Given the description of an element on the screen output the (x, y) to click on. 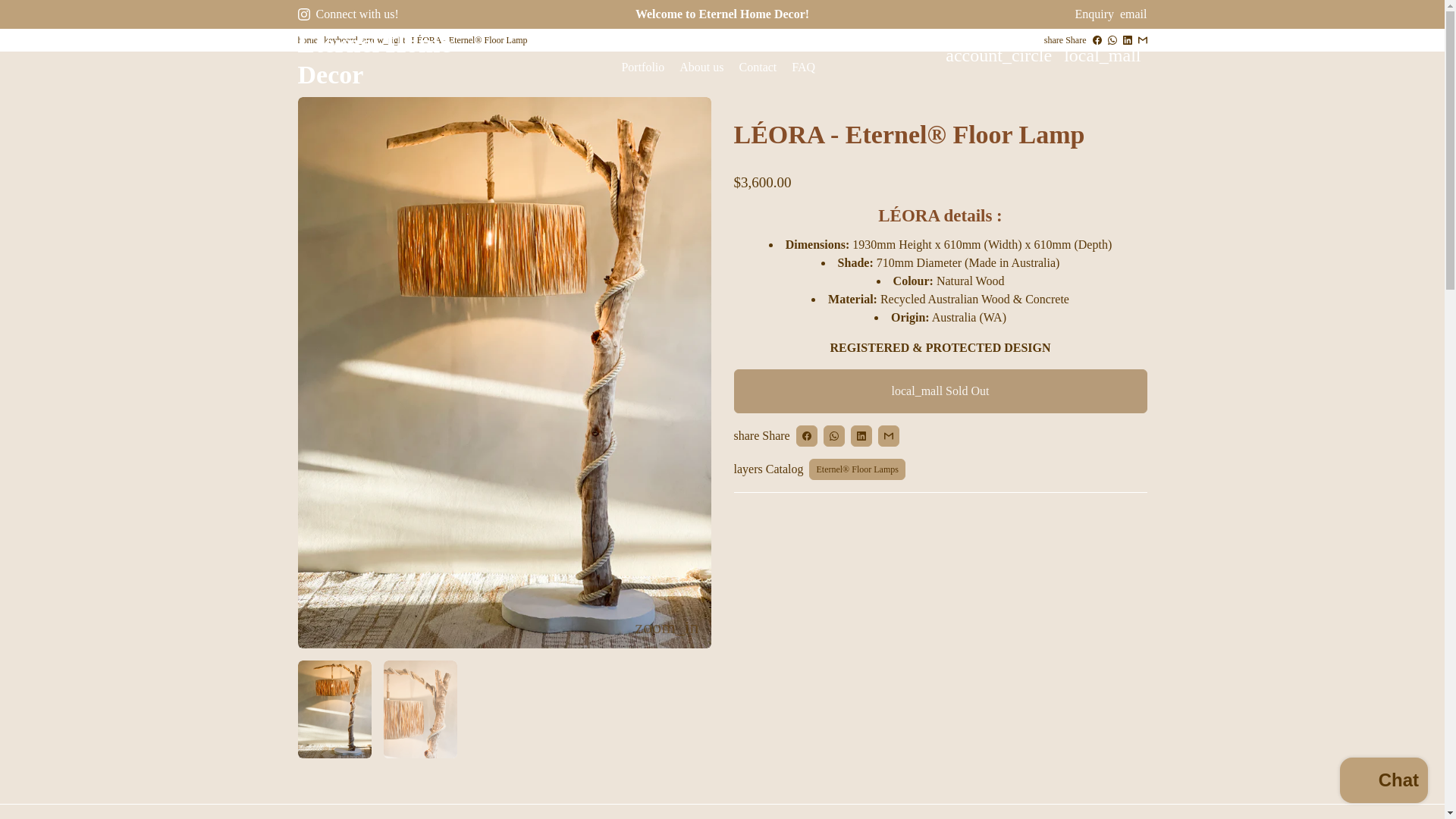
Share on Facebook (806, 435)
Eternel Home Decor (396, 54)
Eternel home decor (307, 40)
Log In (998, 54)
email (1133, 13)
Cart (1102, 54)
Eternel Home Decor on Instagram (302, 13)
Home (557, 42)
